Given the description of an element on the screen output the (x, y) to click on. 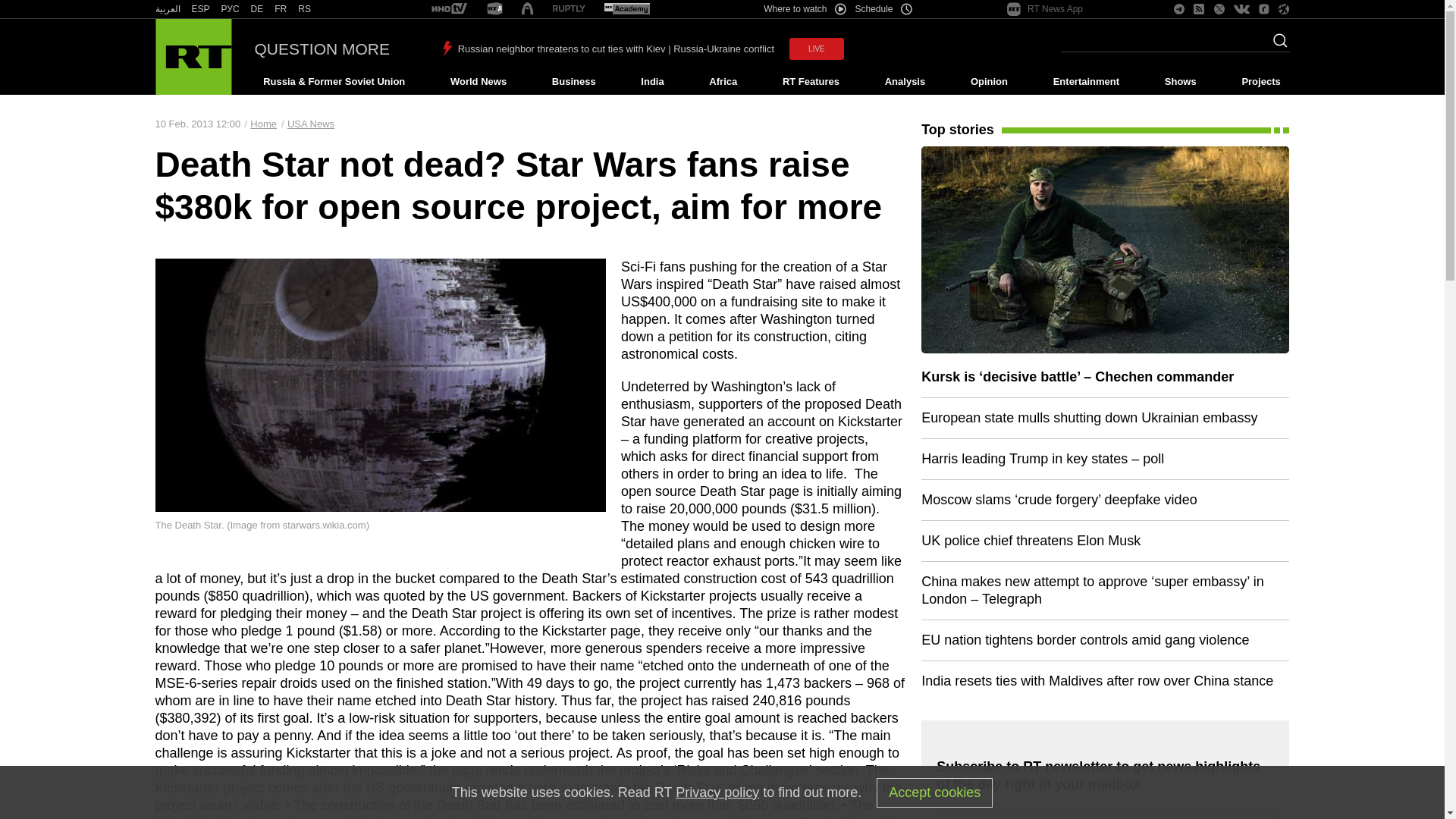
RT  (199, 9)
India (651, 81)
RT  (448, 9)
RT News App (1045, 9)
Opinion (988, 81)
RT Features (810, 81)
Search (1276, 44)
QUESTION MORE (322, 48)
Search (1276, 44)
RT  (304, 9)
